Given the description of an element on the screen output the (x, y) to click on. 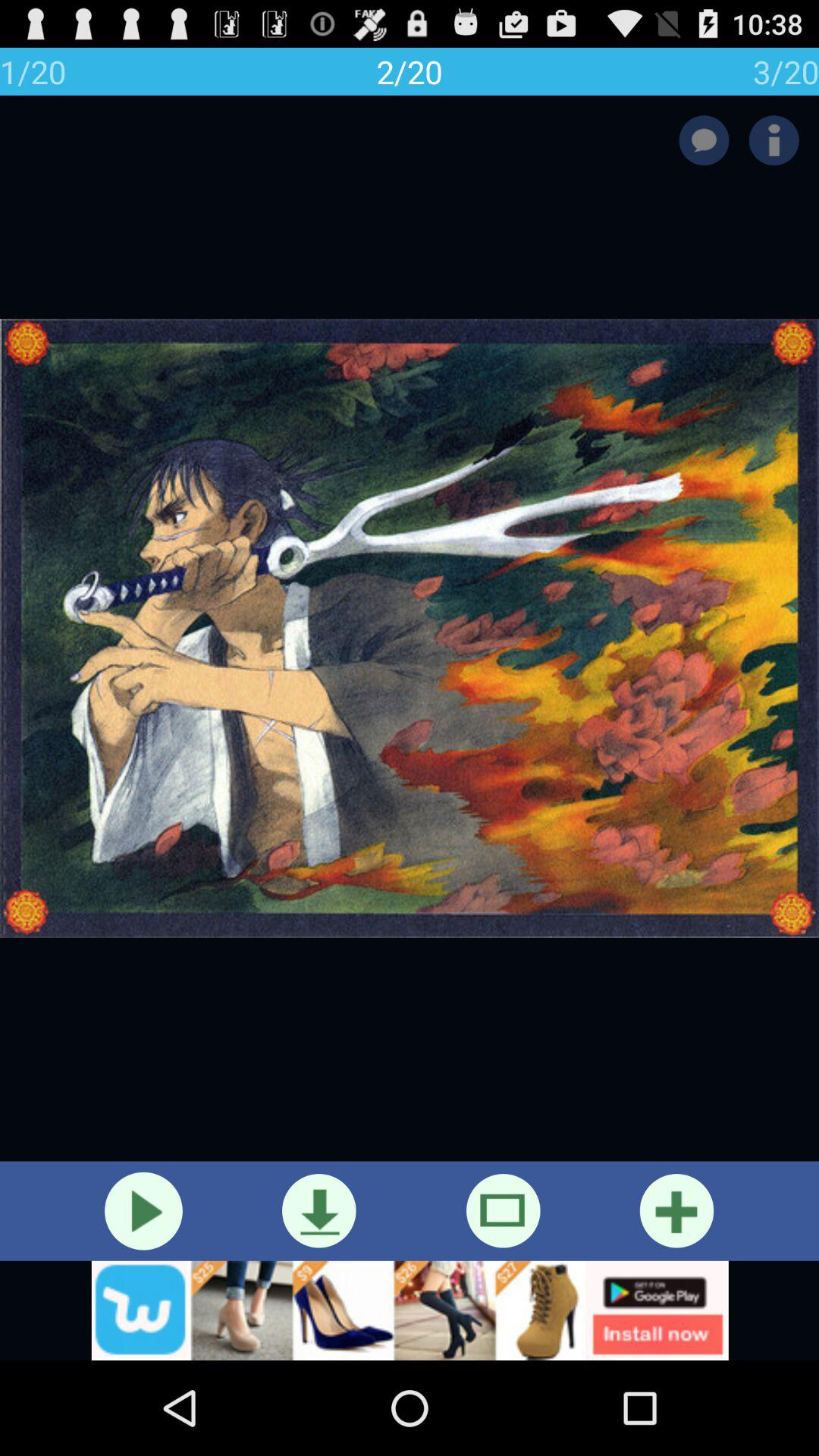
open advertisement (409, 1310)
